Given the description of an element on the screen output the (x, y) to click on. 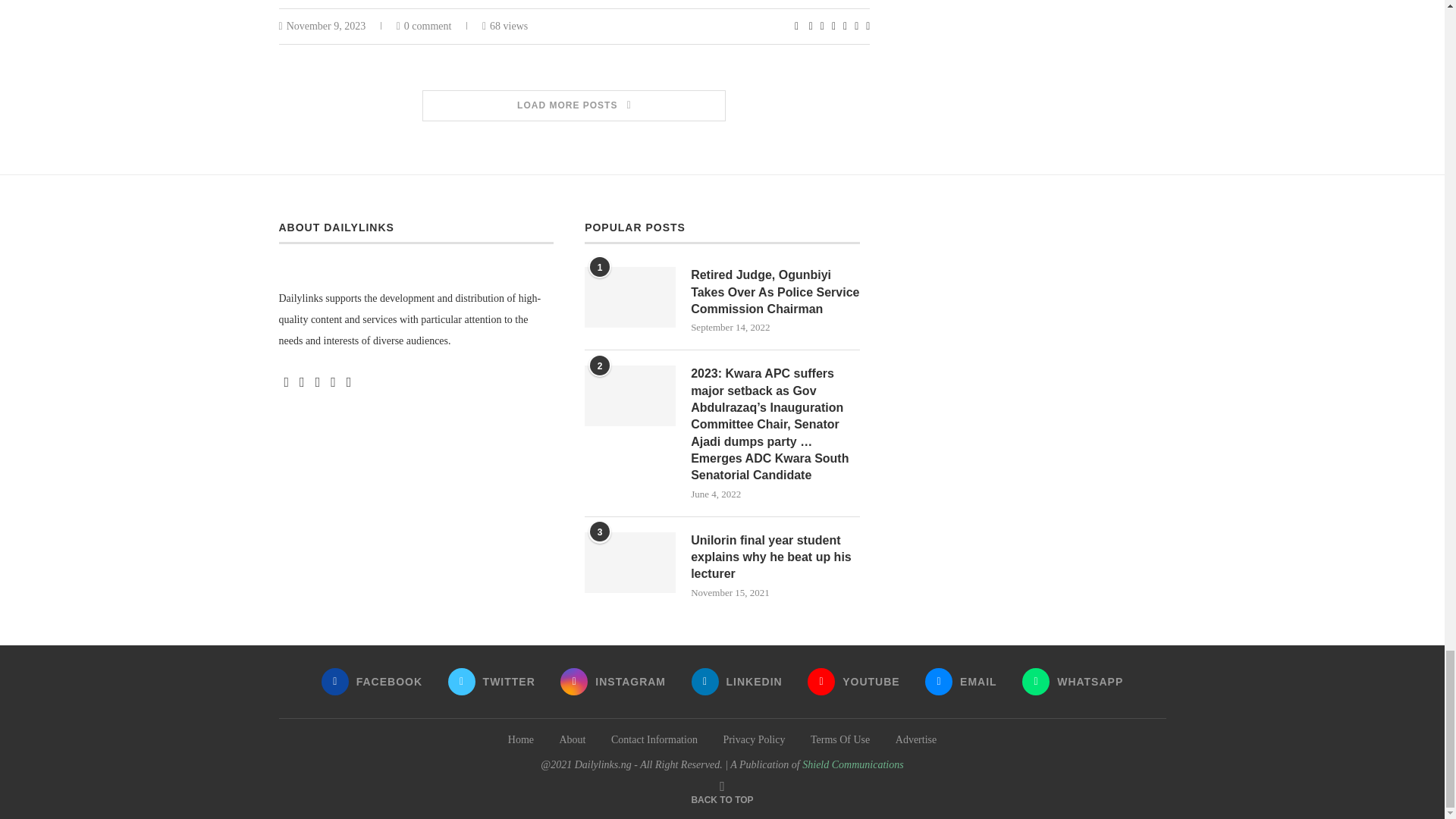
LOAD MORE POSTS (574, 105)
